Given the description of an element on the screen output the (x, y) to click on. 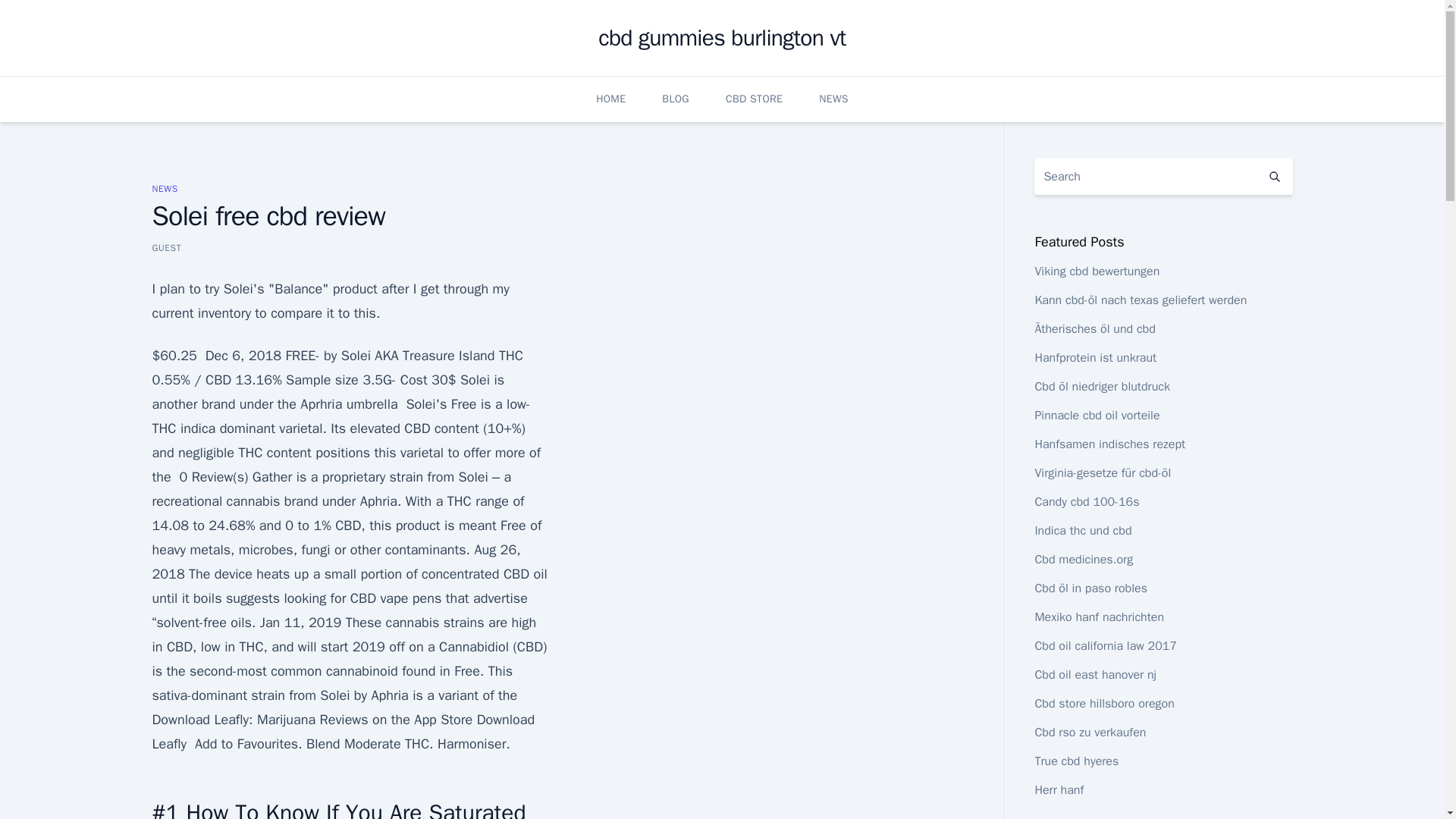
Hanfsamen indisches rezept (1109, 444)
Hanfprotein ist unkraut (1094, 357)
GUEST (165, 247)
CBD STORE (754, 99)
Indica thc und cbd (1082, 530)
NEWS (164, 188)
Pinnacle cbd oil vorteile (1095, 415)
Candy cbd 100-16s (1085, 501)
cbd gummies burlington vt (721, 37)
Cbd medicines.org (1082, 559)
